Given the description of an element on the screen output the (x, y) to click on. 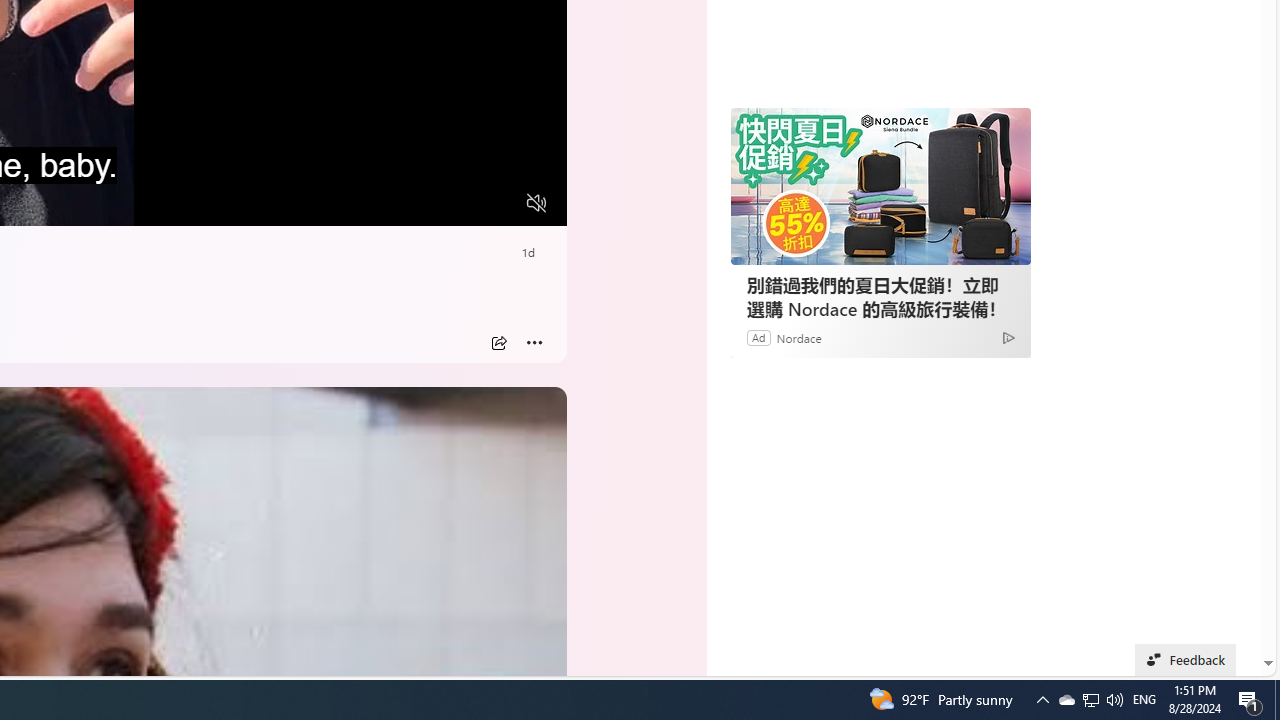
Fullscreen (497, 203)
Ad (758, 337)
Nordace (798, 337)
Captions (457, 203)
More (534, 343)
Share (498, 343)
Feedback (1185, 659)
More (534, 343)
Unmute (535, 203)
Share (498, 343)
Quality Settings (418, 203)
Ad Choice (1008, 336)
